Given the description of an element on the screen output the (x, y) to click on. 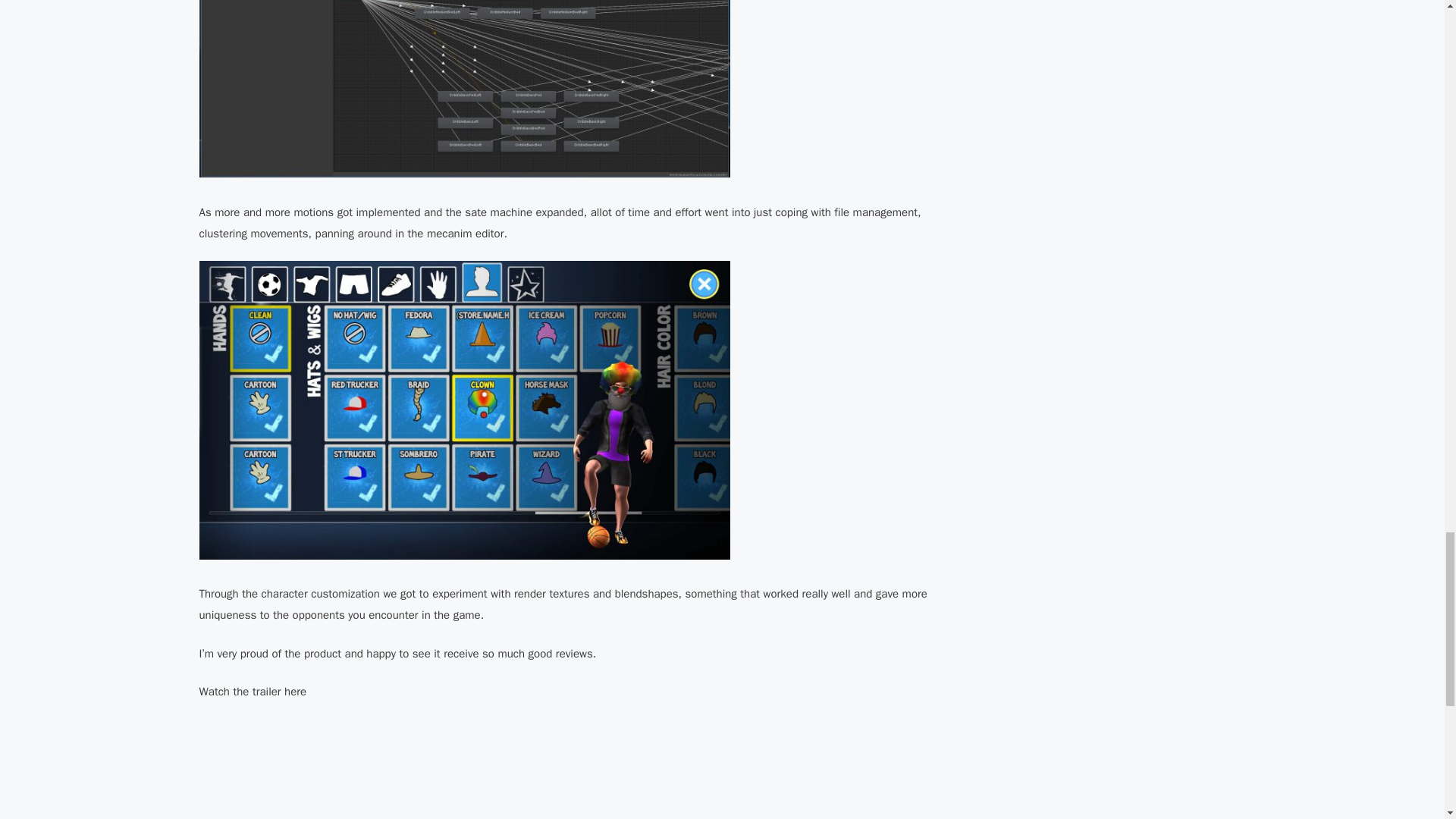
GET SKILLTWINS FOOTBALL GAME TODAY! (441, 769)
